Given the description of an element on the screen output the (x, y) to click on. 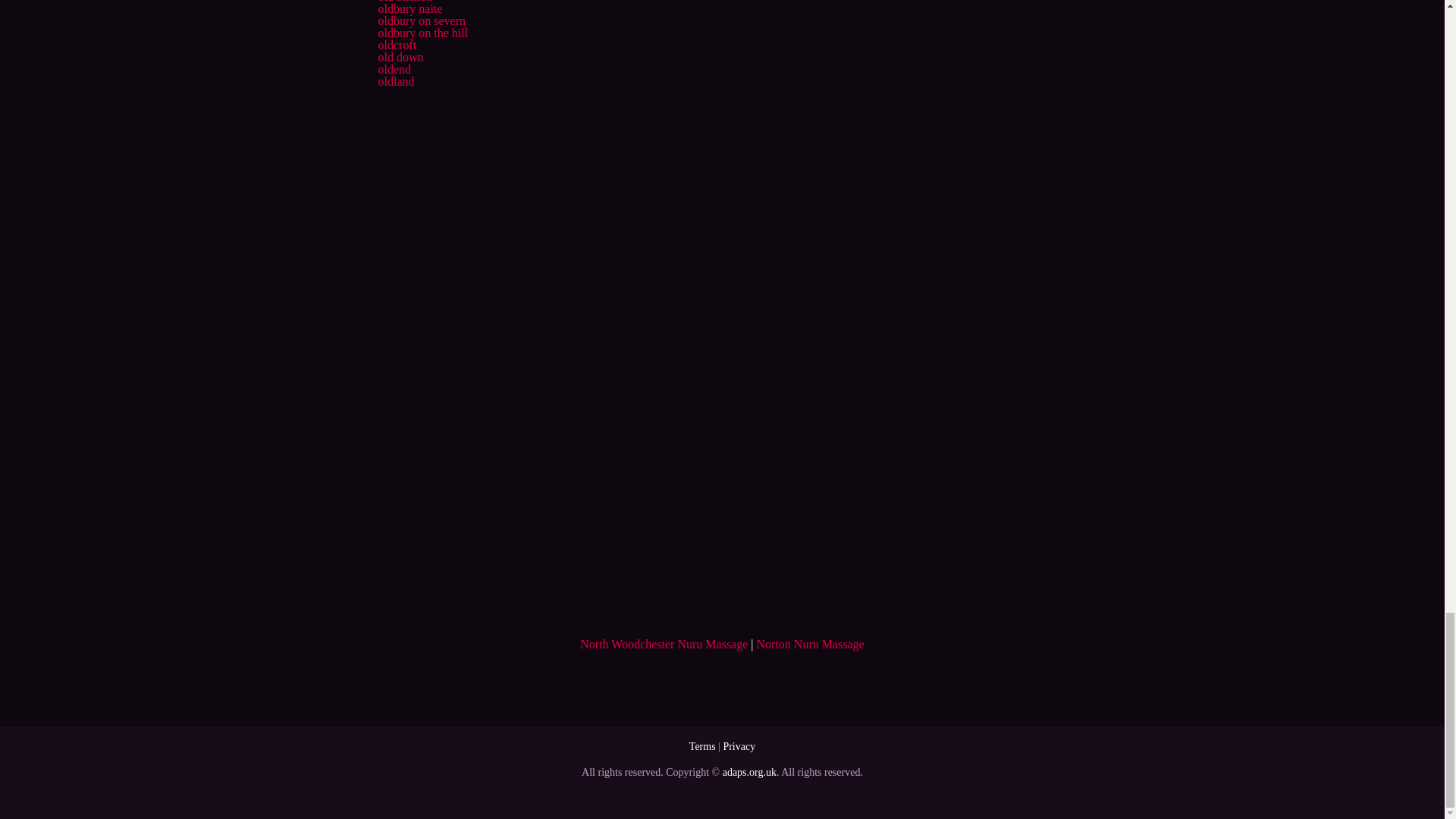
Norton Nuru Massage (810, 644)
Terms (702, 746)
old down (400, 56)
oldbury on severn (421, 20)
oldend (393, 69)
oldland (395, 81)
North Woodchester Nuru Massage (663, 644)
Privacy (738, 746)
oldbury on the hill (422, 32)
oldbury naite (409, 8)
Privacy (738, 746)
oldcroft (396, 44)
Terms (702, 746)
adaps.org.uk (749, 772)
old bishton (404, 1)
